Given the description of an element on the screen output the (x, y) to click on. 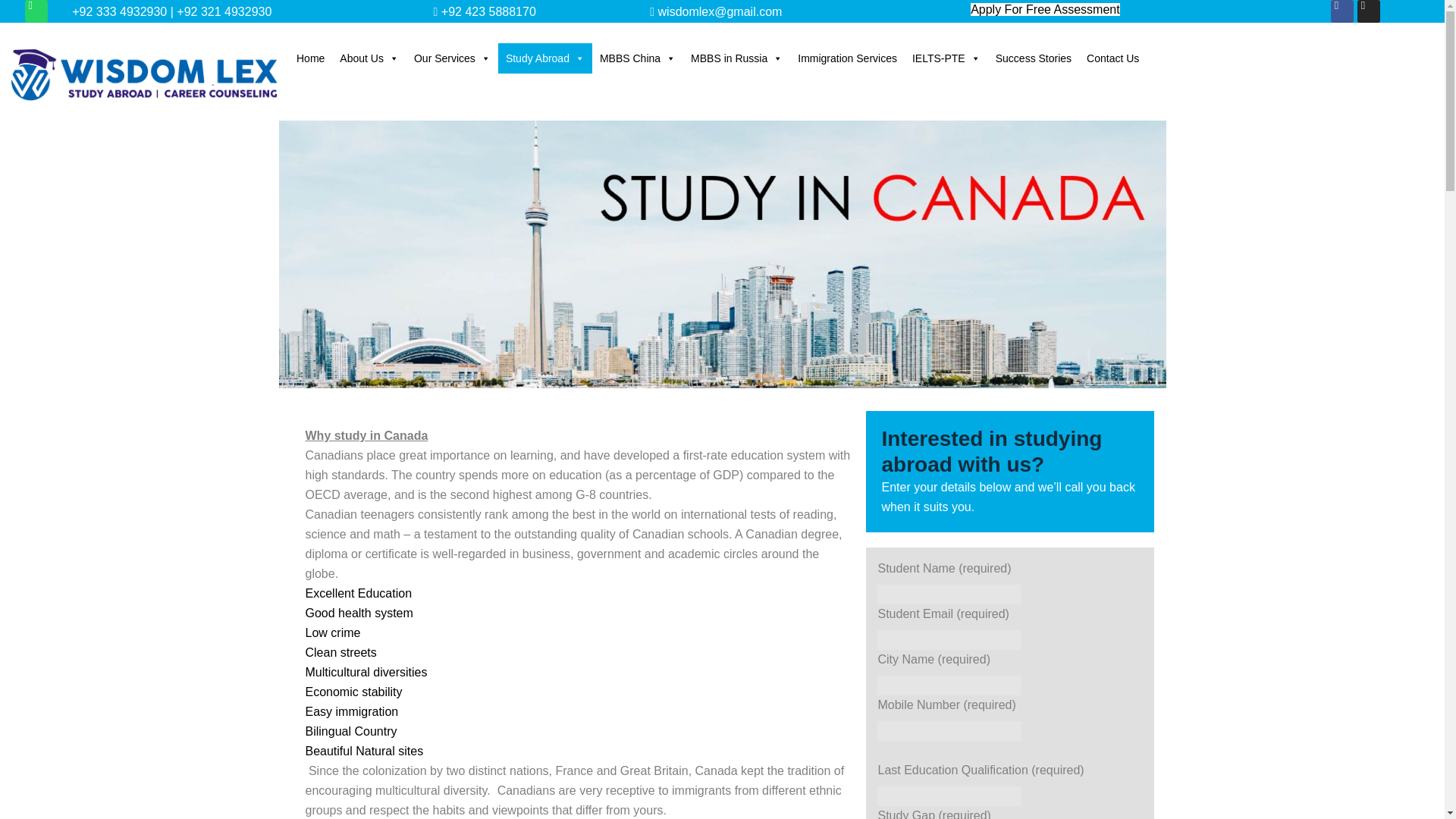
Study Abroad (544, 58)
Our Services (451, 58)
About Us (368, 58)
Apply For Free Assessment (1045, 9)
Home (309, 58)
MBBS China (637, 58)
